Given the description of an element on the screen output the (x, y) to click on. 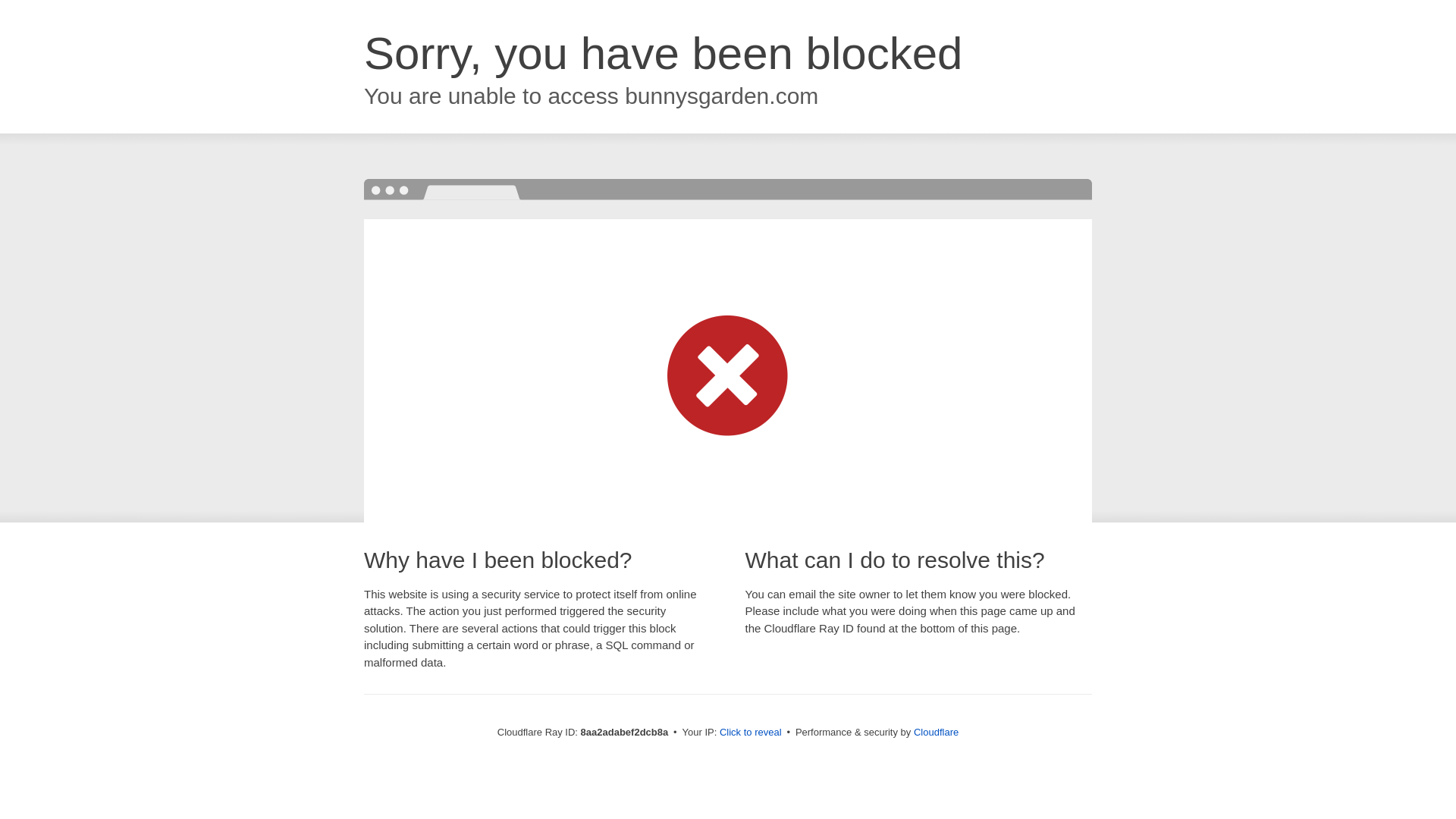
Cloudflare (936, 731)
Click to reveal (750, 732)
